Given the description of an element on the screen output the (x, y) to click on. 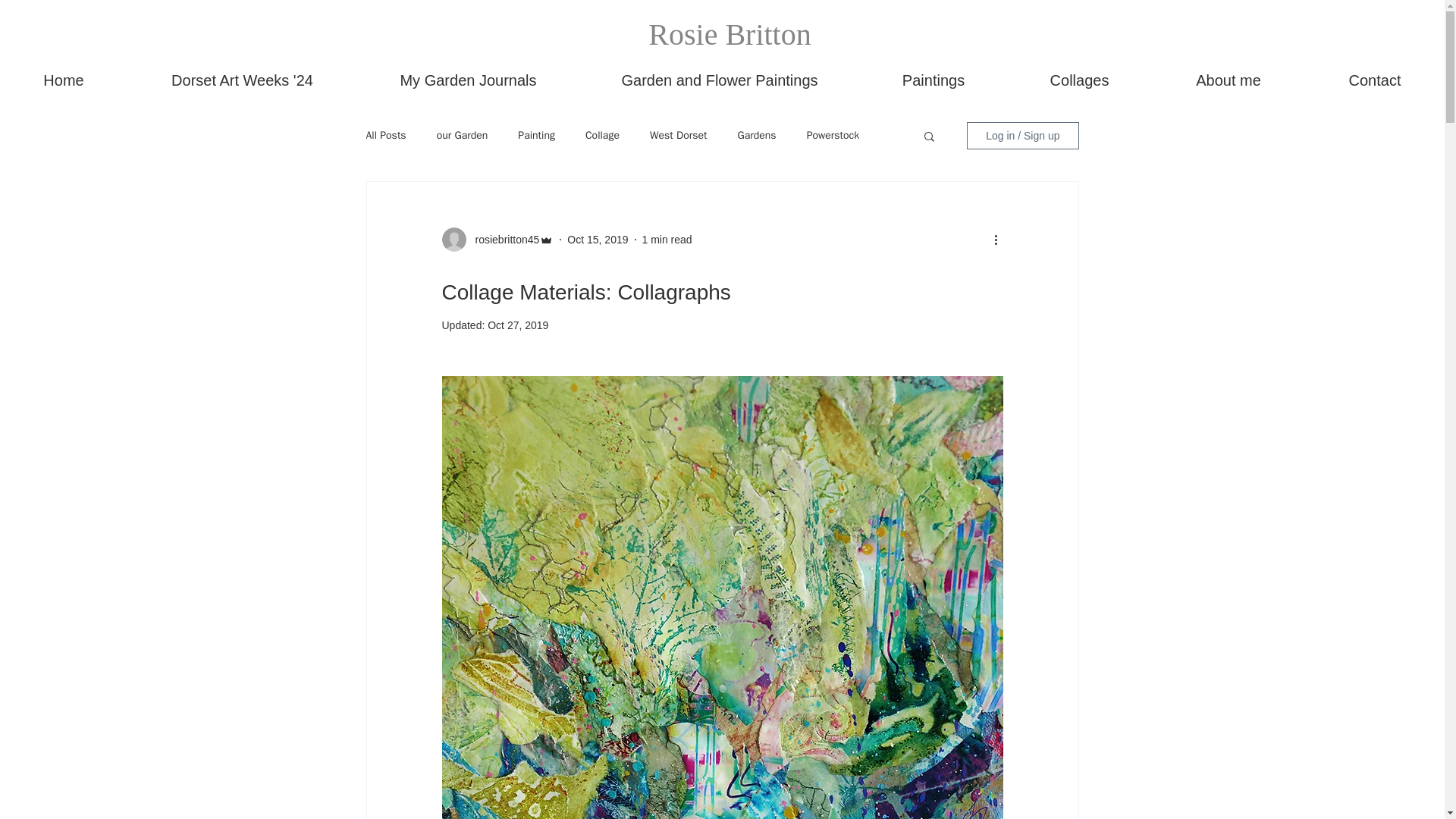
Dorset Art Weeks '24 (242, 79)
My Garden Journals (467, 79)
All Posts (385, 135)
Collage (602, 135)
Gardens (756, 135)
Collages (1079, 79)
West Dorset (678, 135)
1 min read (666, 239)
Garden and Flower Paintings (719, 79)
Paintings (933, 79)
About me (1227, 79)
Powerstock (833, 135)
our Garden (461, 135)
Painting (536, 135)
Home (64, 79)
